Given the description of an element on the screen output the (x, y) to click on. 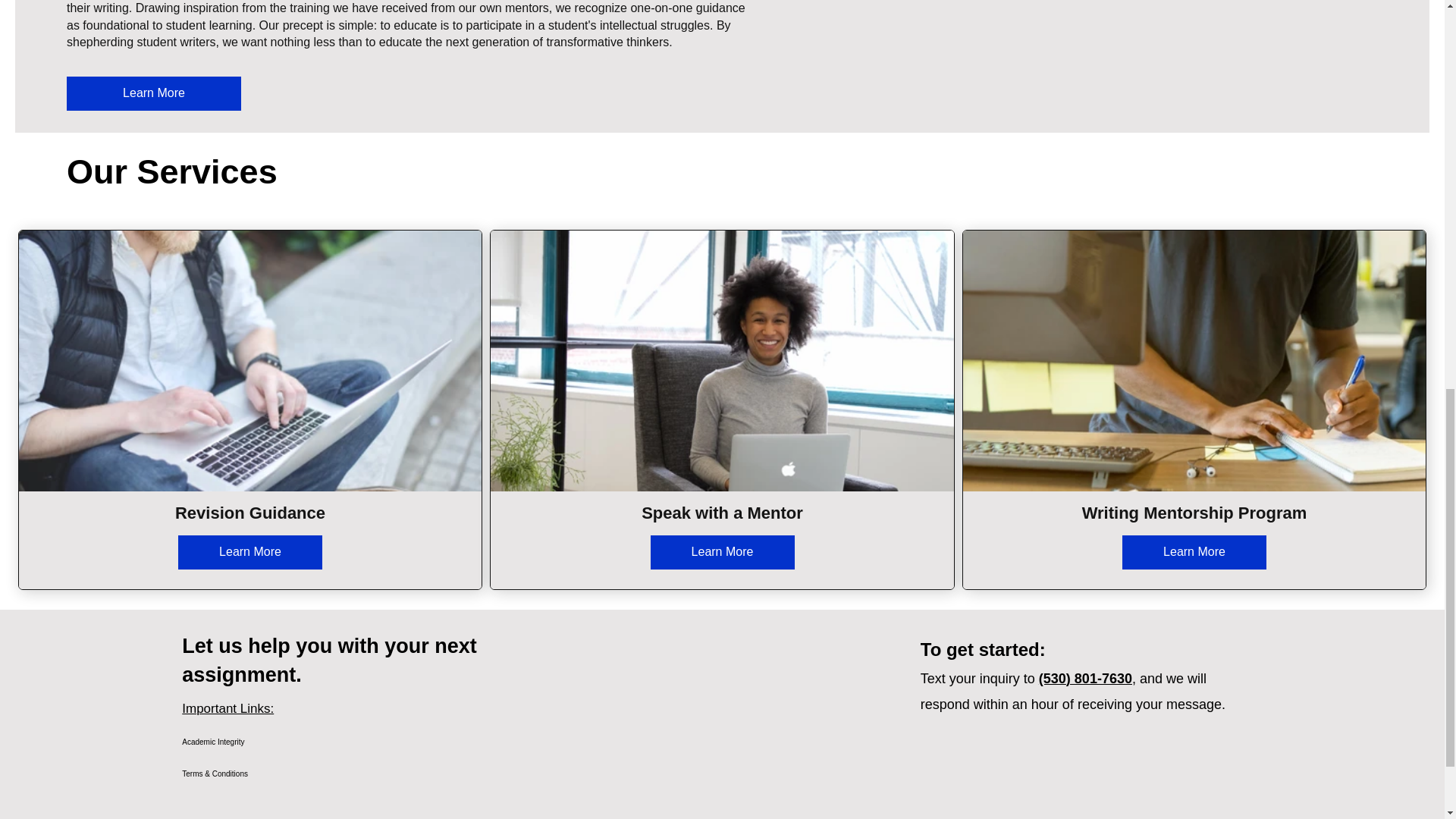
Academic Integrity (250, 742)
Learn More (153, 93)
Learn More (722, 552)
Learn More (1194, 552)
Learn More (249, 552)
